Given the description of an element on the screen output the (x, y) to click on. 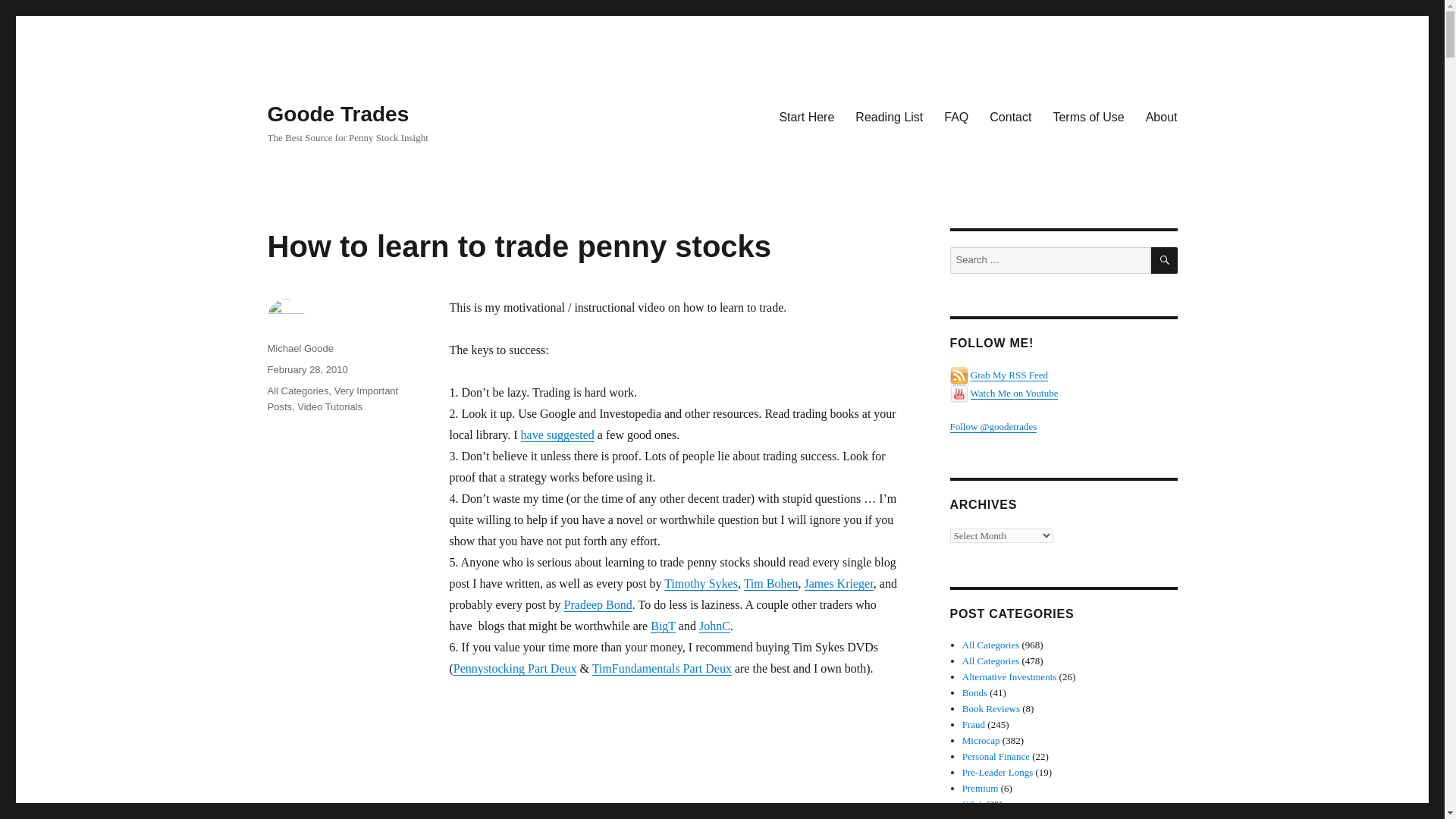
Goode Trades (337, 114)
February 28, 2010 (306, 369)
Tim Bohen (770, 583)
James Krieger (839, 583)
BigT (662, 625)
TimFundamentals Part Deux (662, 667)
Video Tutorials (329, 406)
FAQ (955, 116)
Terms of Use (1088, 116)
Reading List (888, 116)
